Given the description of an element on the screen output the (x, y) to click on. 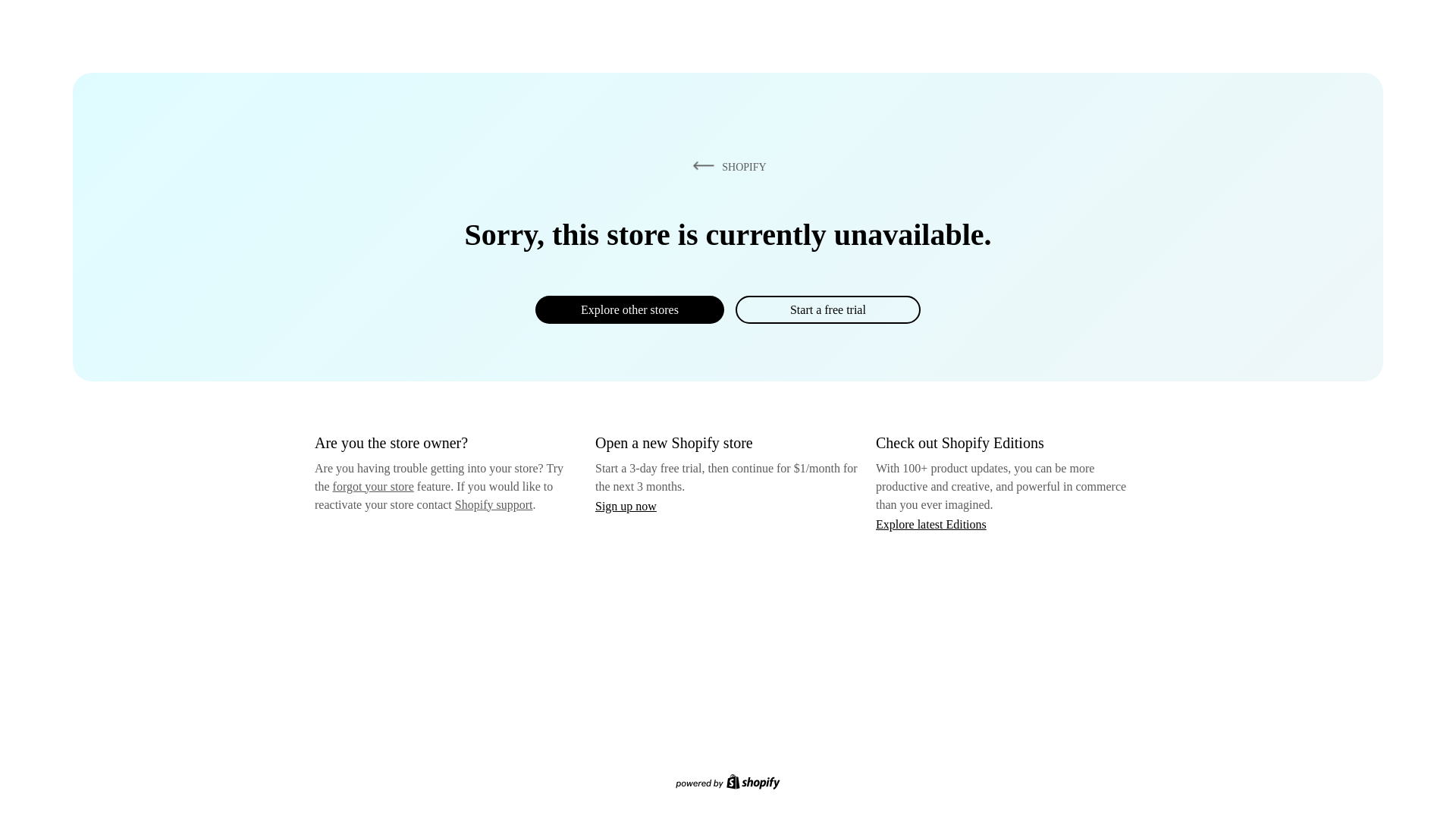
Sign up now (625, 505)
Explore latest Editions (931, 523)
Explore other stores (629, 309)
Shopify support (493, 504)
forgot your store (373, 486)
SHOPIFY (726, 166)
Start a free trial (827, 309)
